Given the description of an element on the screen output the (x, y) to click on. 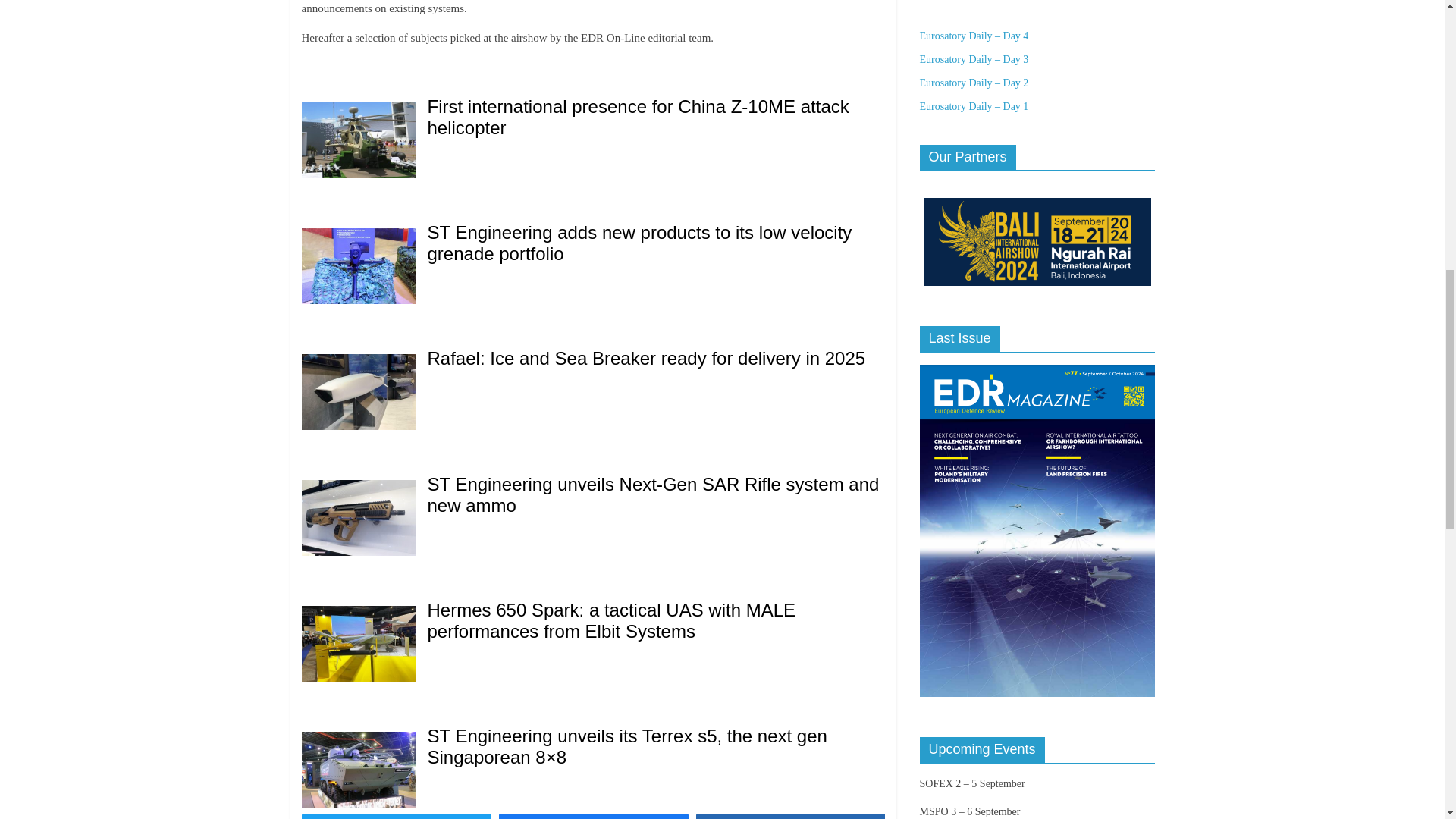
Rafael: Ice and Sea Breaker ready for delivery in 2025 (647, 358)
